Given the description of an element on the screen output the (x, y) to click on. 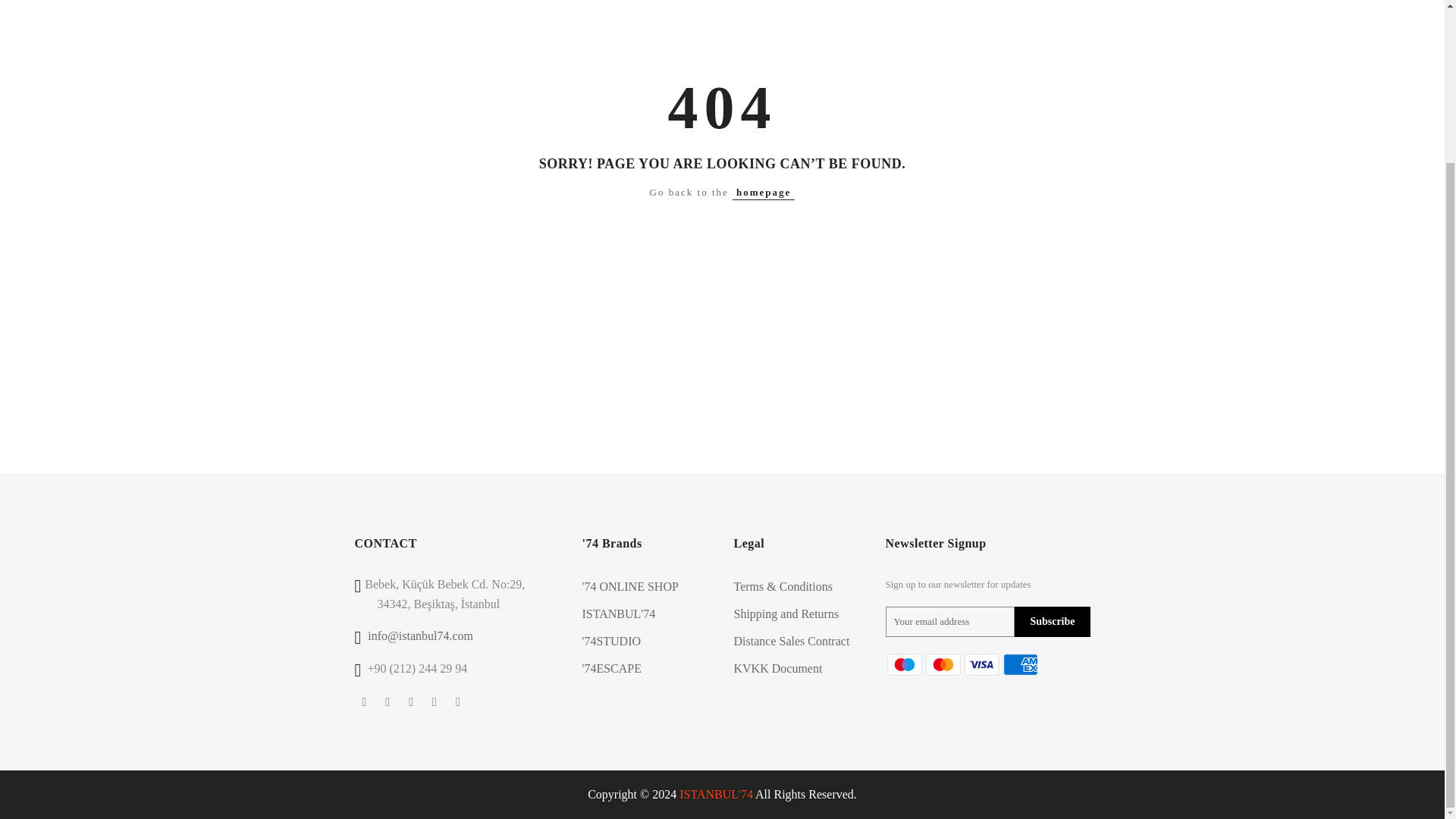
'74 ONLINE SHOP (630, 585)
ISTANBUL'74 (619, 613)
'74STUDIO (612, 640)
homepage (763, 192)
